Given the description of an element on the screen output the (x, y) to click on. 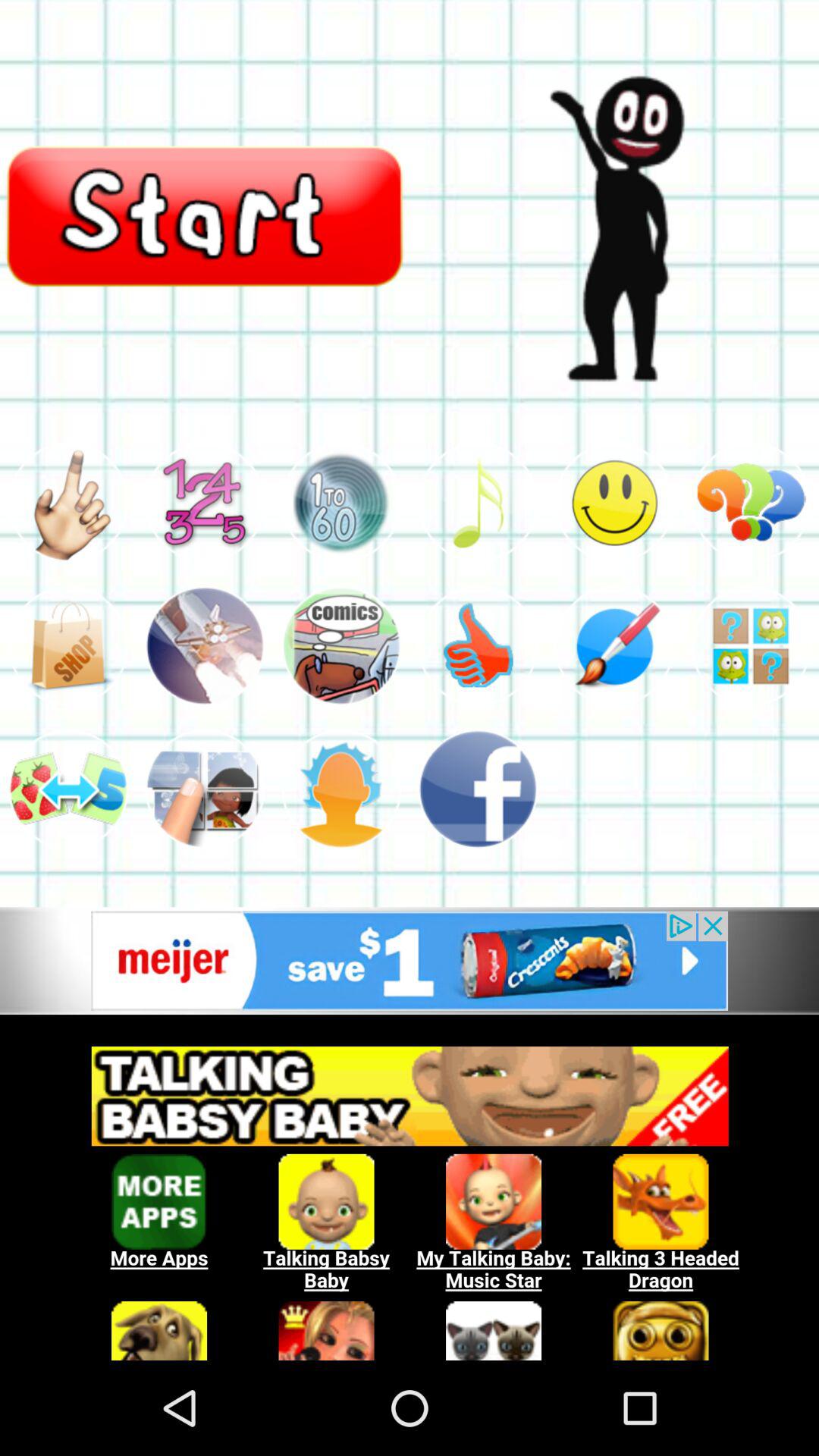
click for help (750, 645)
